Given the description of an element on the screen output the (x, y) to click on. 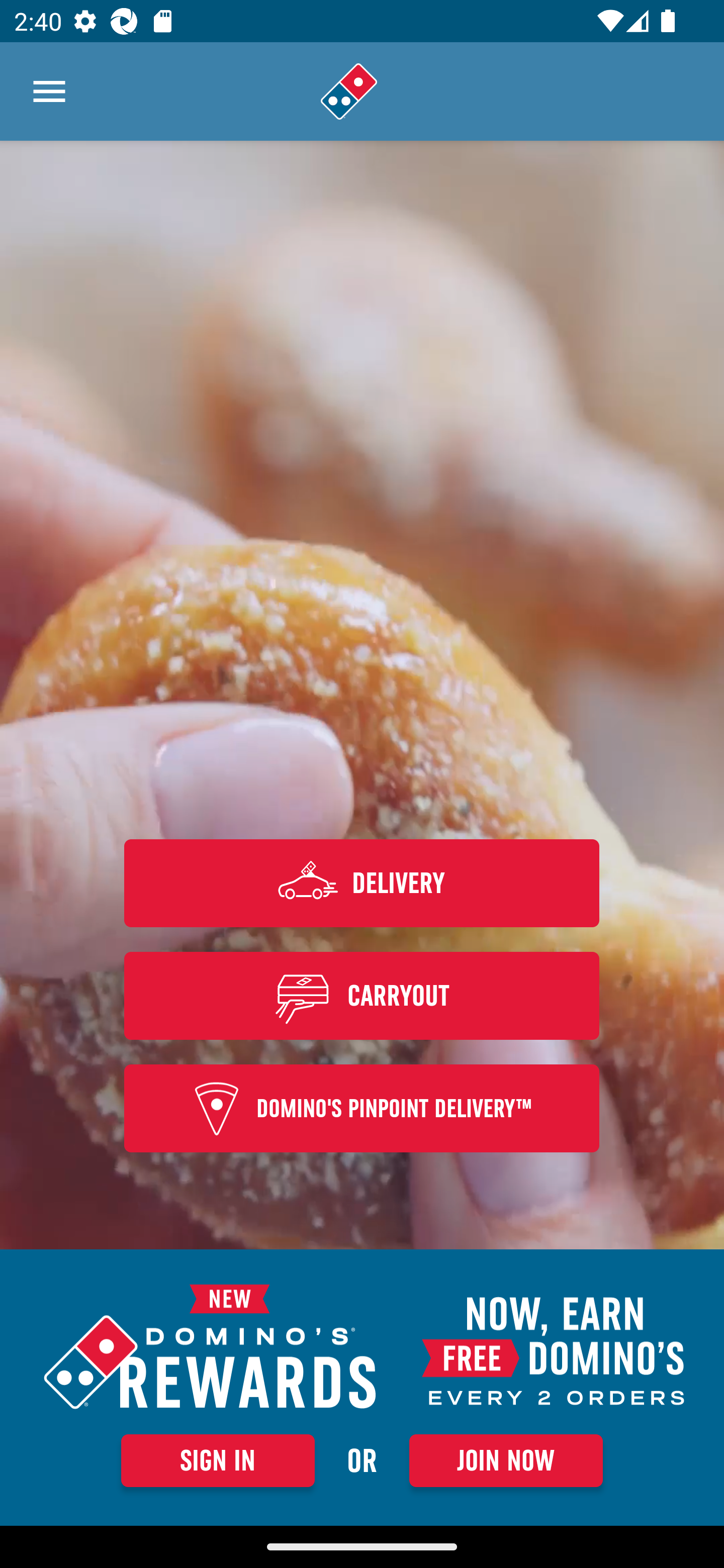
Expand Menu (49, 91)
DELIVERY (361, 882)
CARRYOUT (361, 995)
DOMINO'S PINPOINT DELIVERY™ (361, 1108)
SIGN IN (217, 1460)
JOIN NOW (506, 1460)
